Given the description of an element on the screen output the (x, y) to click on. 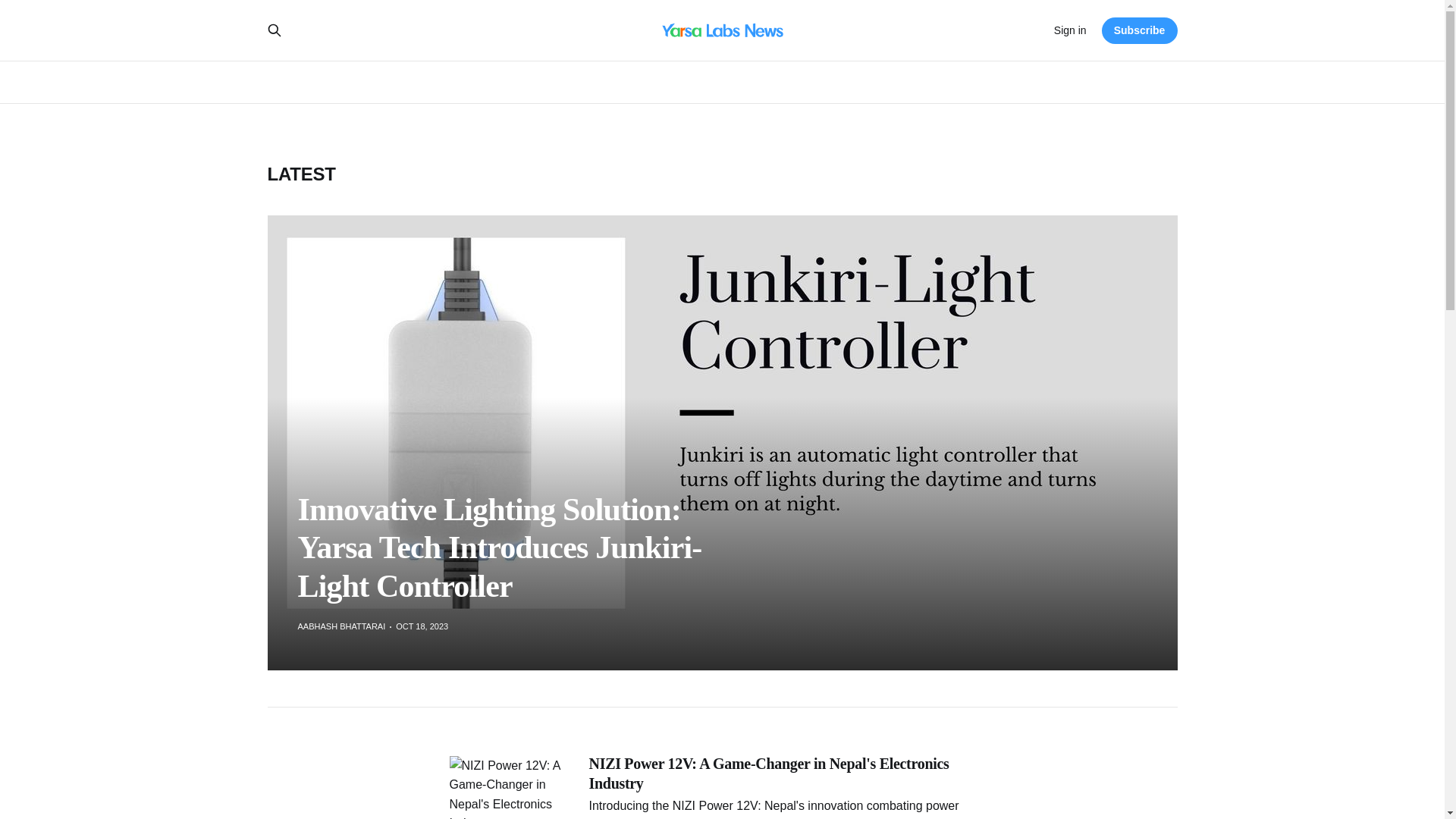
Subscribe (1139, 29)
Sign in (1070, 30)
